Given the description of an element on the screen output the (x, y) to click on. 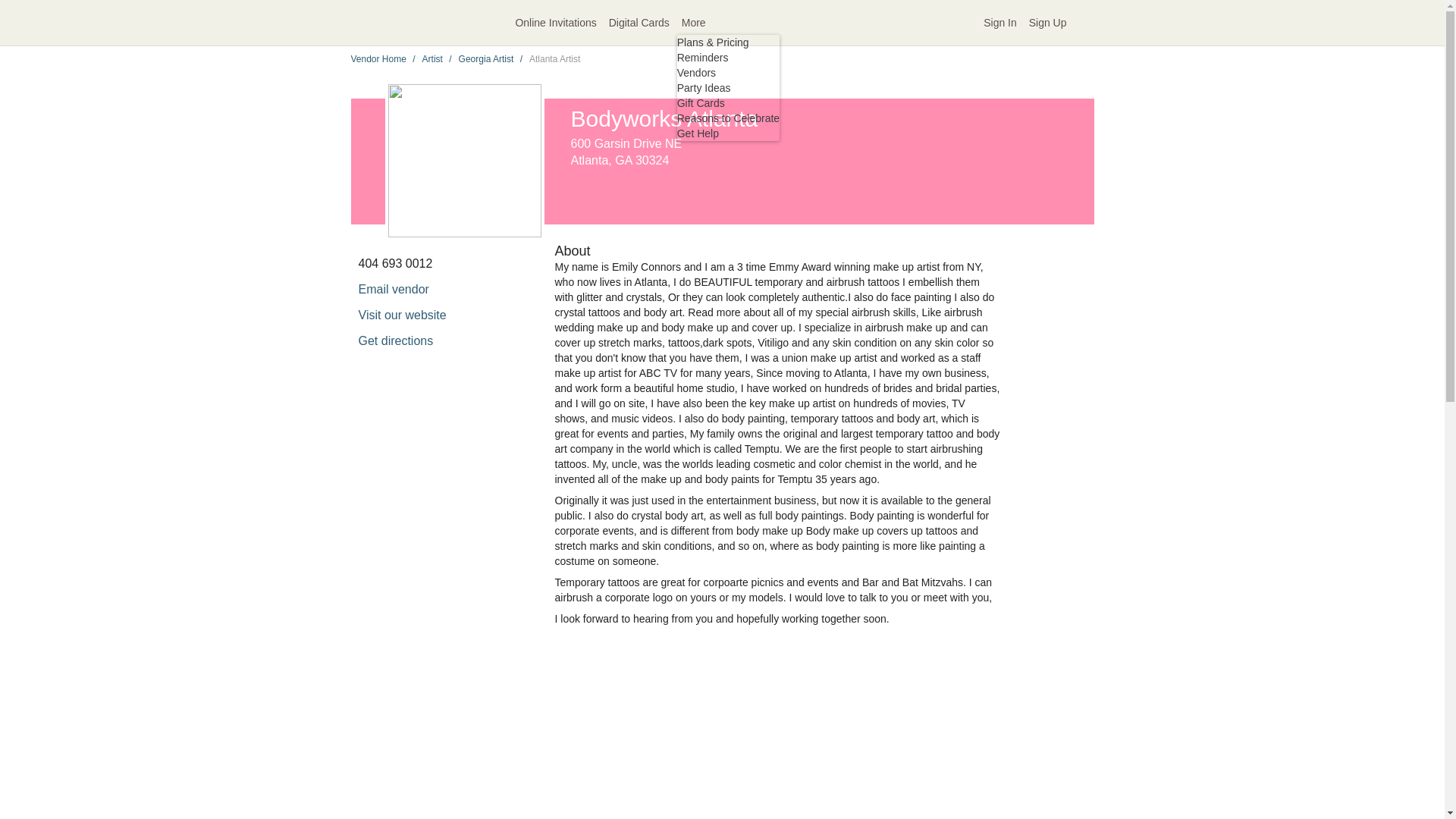
Party Ideas (703, 87)
Online Invitations (555, 22)
Digital Cards (639, 22)
Bodyworks Atlanta image (833, 737)
Sign In (1000, 22)
Artist (432, 59)
Sign Up (1048, 22)
More (727, 22)
Punchbowl (439, 23)
Party Advice and Ideas (703, 87)
Reminders (703, 57)
Vendors (696, 72)
Birthday Reminder Service (703, 57)
Join Punchbowl (1048, 22)
Online invitations (555, 22)
